Given the description of an element on the screen output the (x, y) to click on. 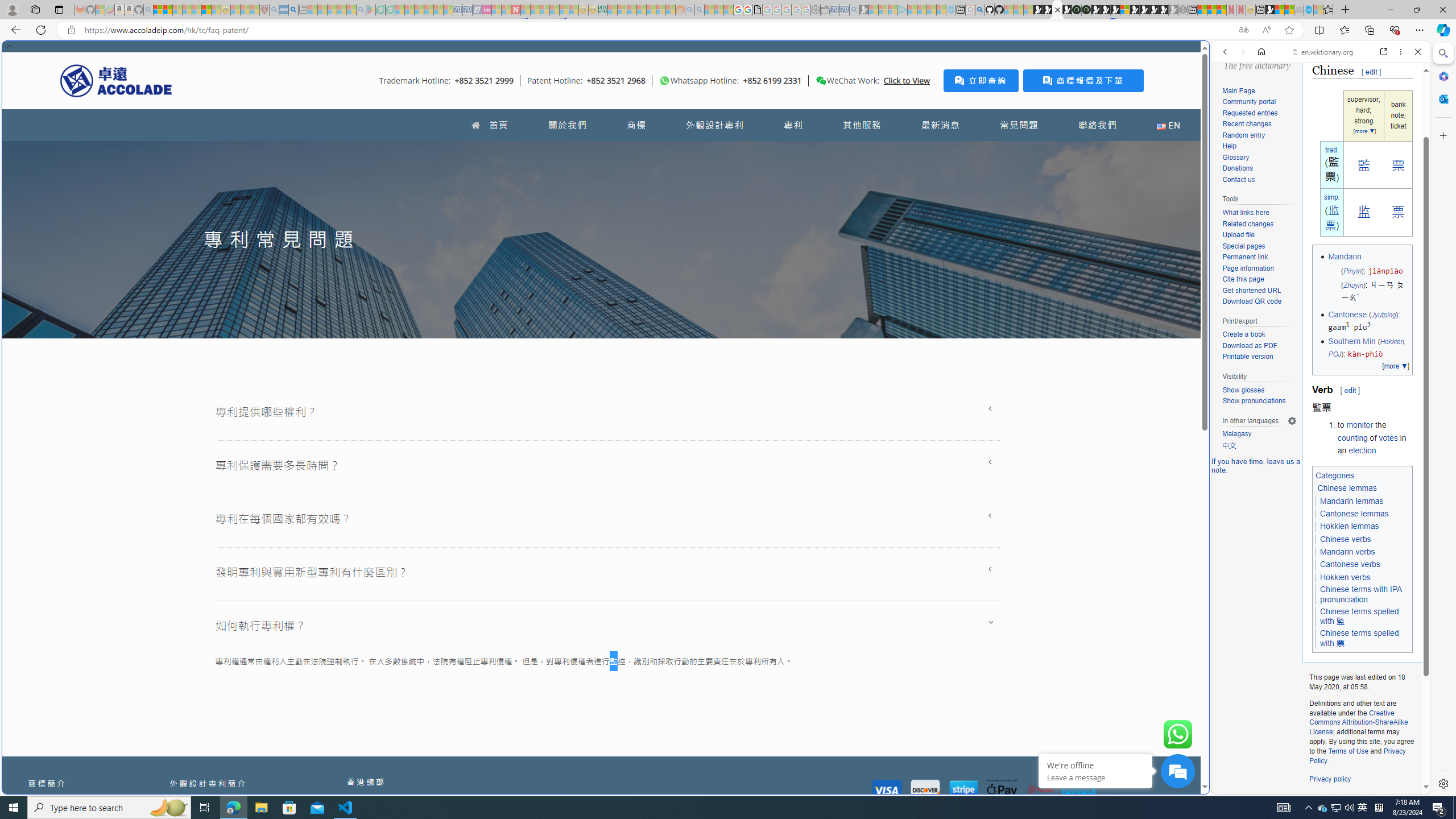
Kinda Frugal - MSN - Sleeping (651, 9)
Expert Portfolios - Sleeping (640, 9)
Related changes (1259, 224)
utah sues federal government - Search (292, 9)
Chinese lemmas (1348, 488)
trad. (1331, 149)
